Given the description of an element on the screen output the (x, y) to click on. 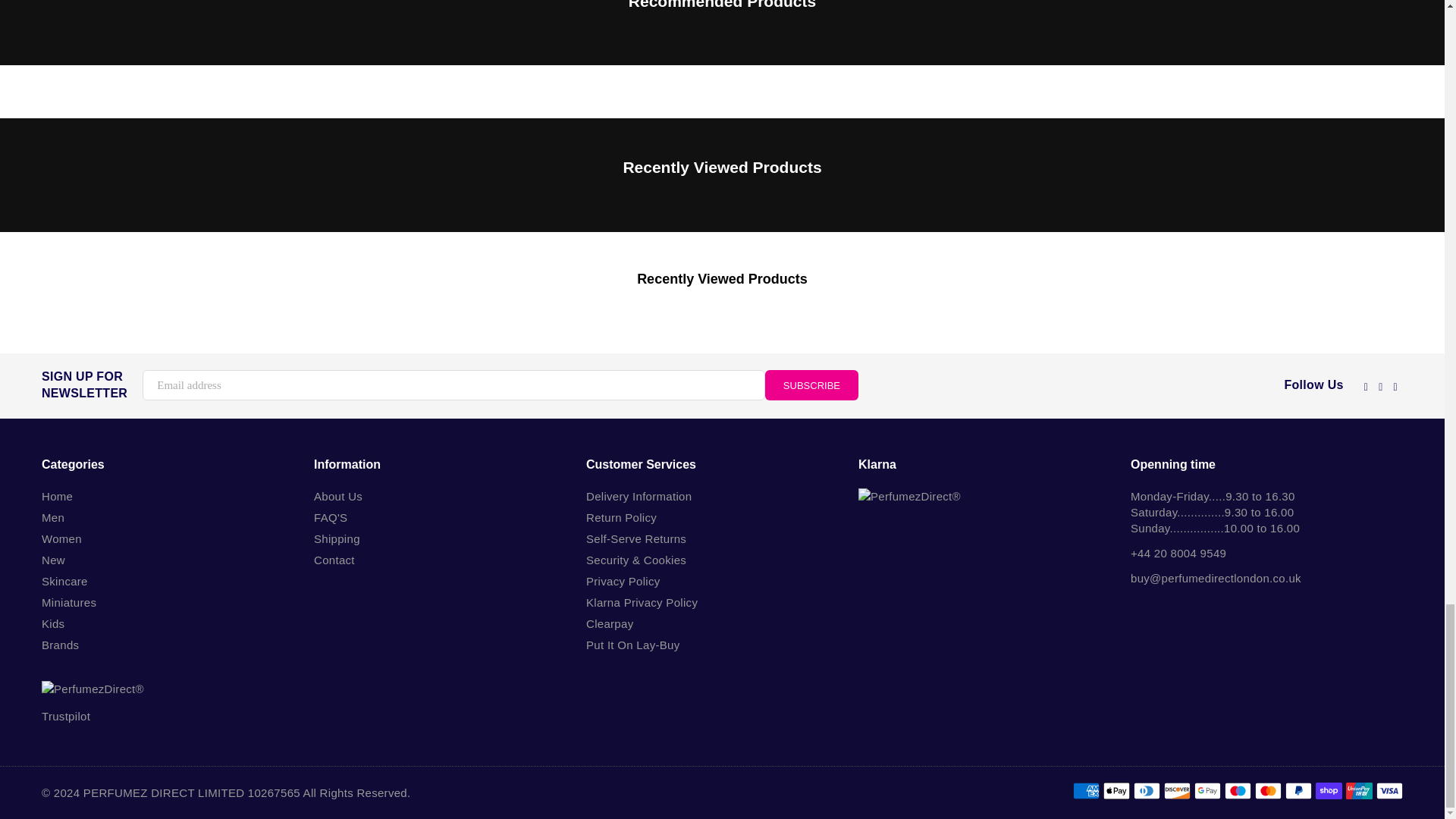
Visa (1389, 791)
Mastercard (1268, 791)
Discover (1177, 791)
Diners Club (1147, 791)
Google Pay (1207, 791)
PayPal (1298, 791)
American Express (1086, 791)
Union Pay (1359, 791)
Maestro (1237, 791)
Shop Pay (1329, 791)
Apple Pay (1116, 791)
